Given the description of an element on the screen output the (x, y) to click on. 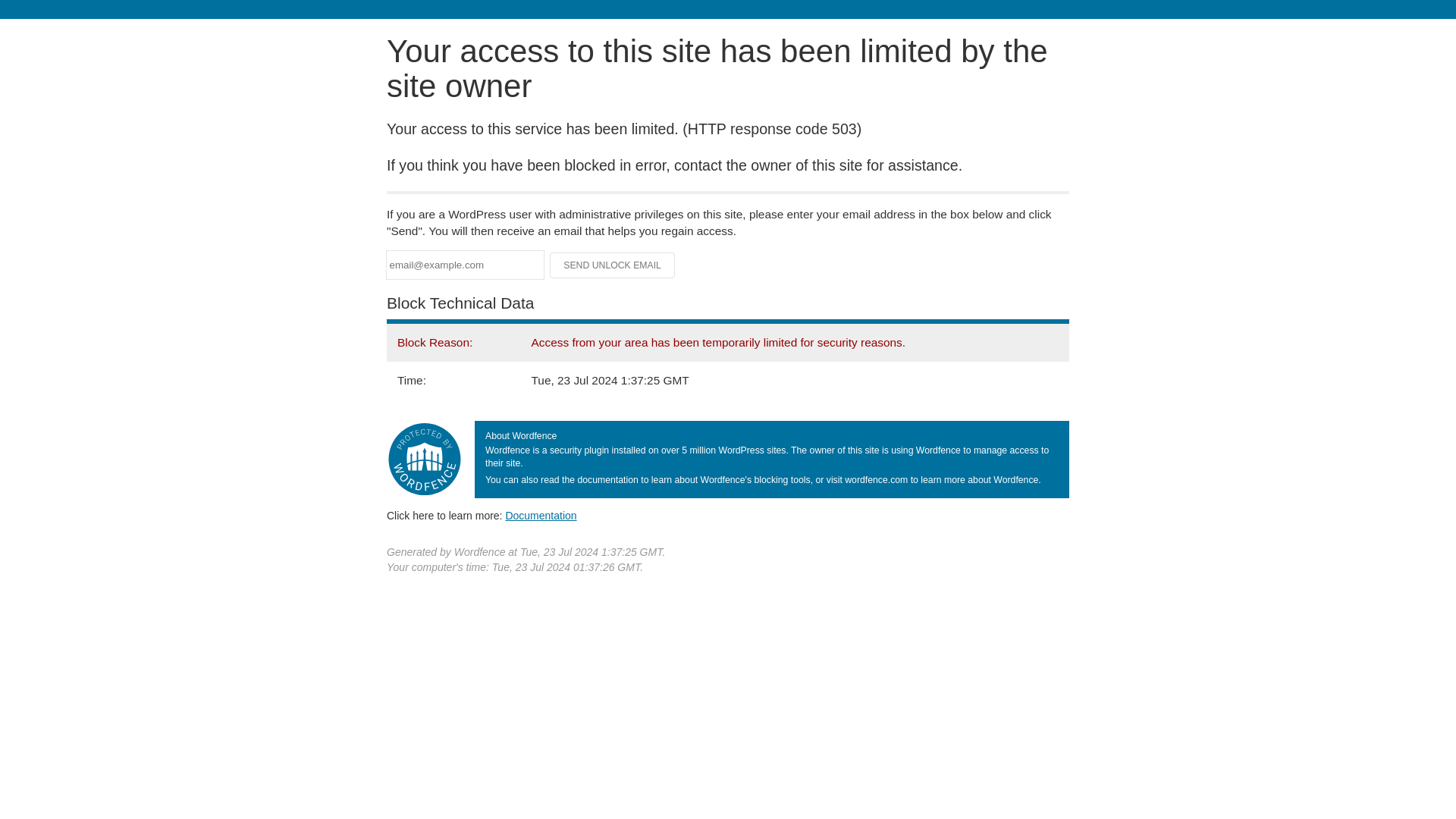
Send Unlock Email (612, 265)
Send Unlock Email (612, 265)
Documentation (540, 515)
